Given the description of an element on the screen output the (x, y) to click on. 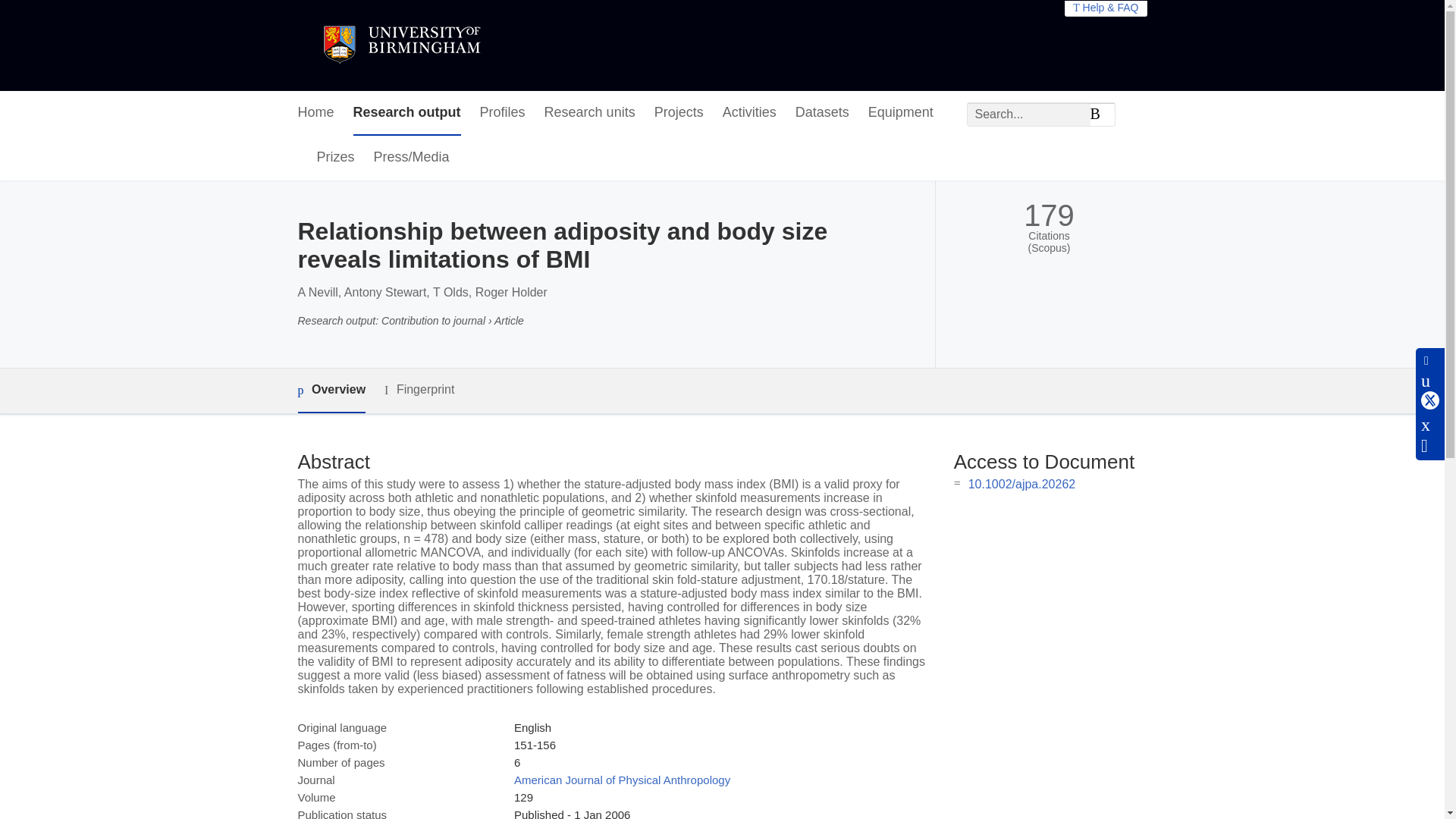
University of Birmingham Home (401, 45)
Datasets (821, 112)
Equipment (900, 112)
Overview (331, 390)
American Journal of Physical Anthropology (621, 779)
Fingerprint (419, 389)
Research output (407, 112)
Projects (678, 112)
Research units (589, 112)
Activities (749, 112)
Profiles (502, 112)
